Given the description of an element on the screen output the (x, y) to click on. 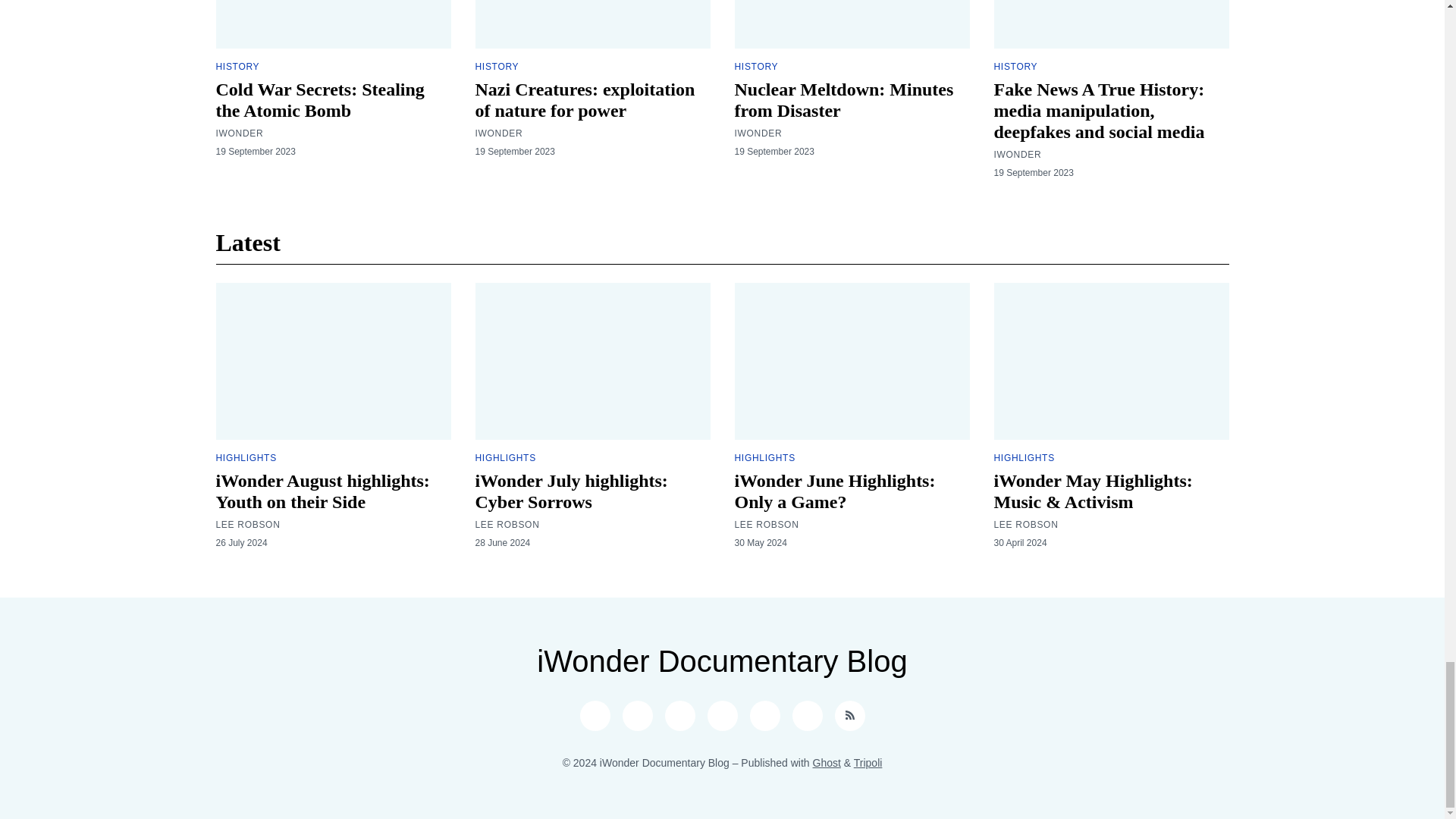
HISTORY (496, 66)
HISTORY (237, 66)
IWONDER (498, 133)
Nazi Creatures: exploitation of nature for power (584, 99)
Cold War Secrets: Stealing the Atomic Bomb (319, 99)
IWONDER (239, 133)
